Given the description of an element on the screen output the (x, y) to click on. 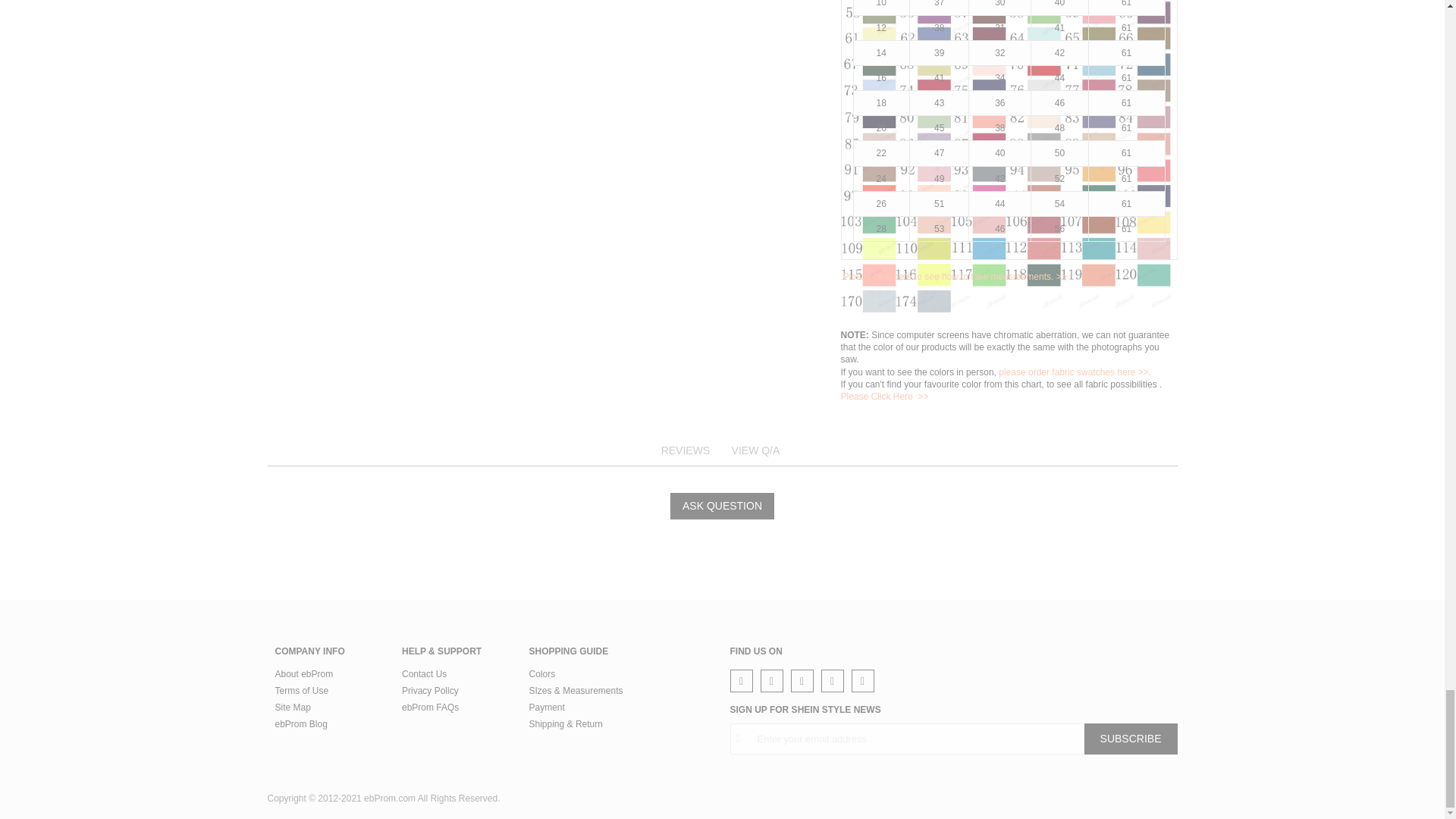
Pearl Chiffon (1008, 158)
